Given the description of an element on the screen output the (x, y) to click on. 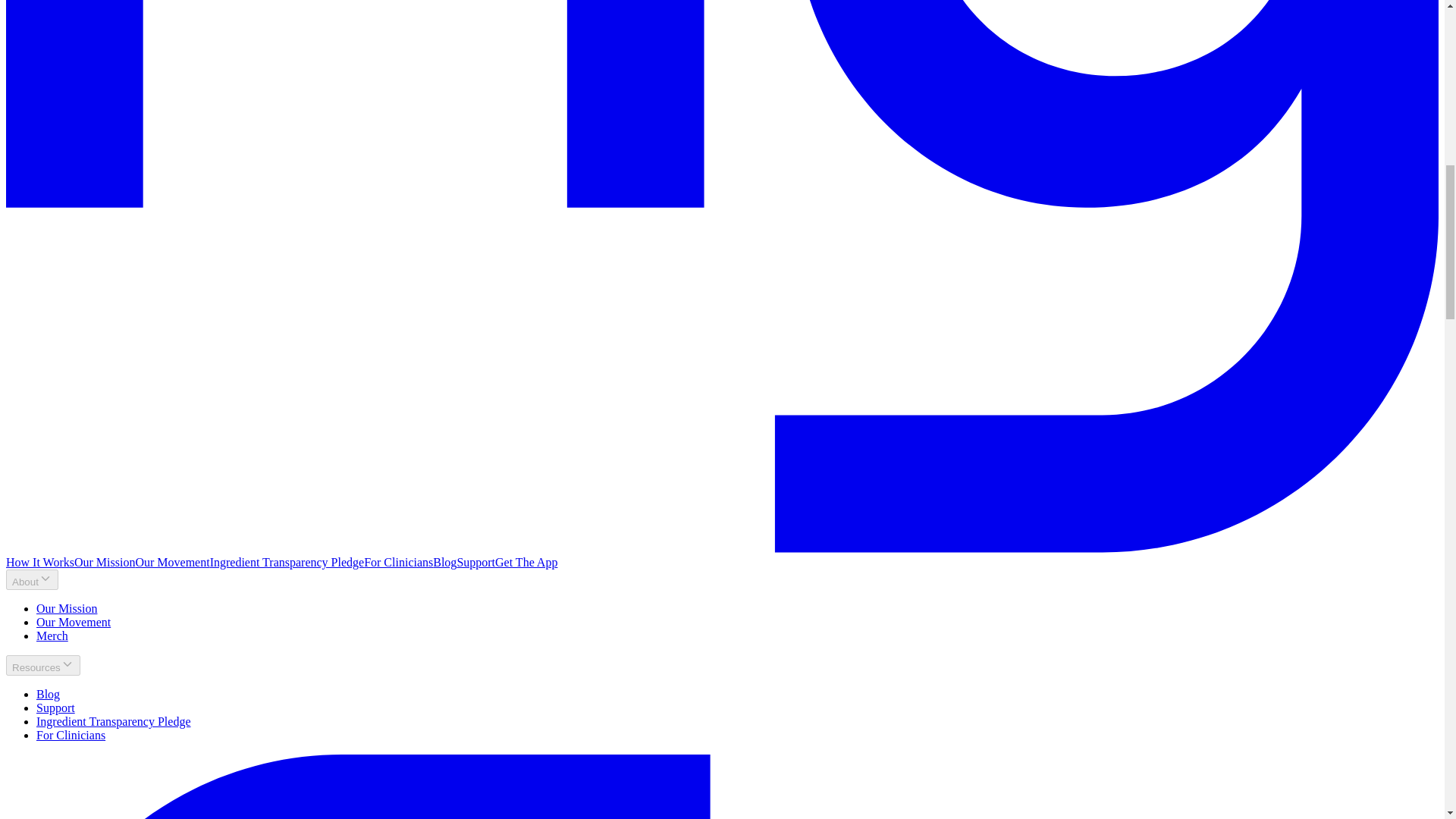
For Clinicians (70, 735)
How It Works (39, 562)
Our Movement (73, 621)
Merch (52, 635)
Merch (52, 635)
Blog (47, 694)
Our Movement (73, 621)
Support (55, 707)
Blog (444, 562)
Support (476, 562)
Ingredient Transparency Pledge (113, 721)
Support (55, 707)
Ingredient Transparency Pledge (113, 721)
Blog (47, 694)
Our Movement (172, 562)
